Given the description of an element on the screen output the (x, y) to click on. 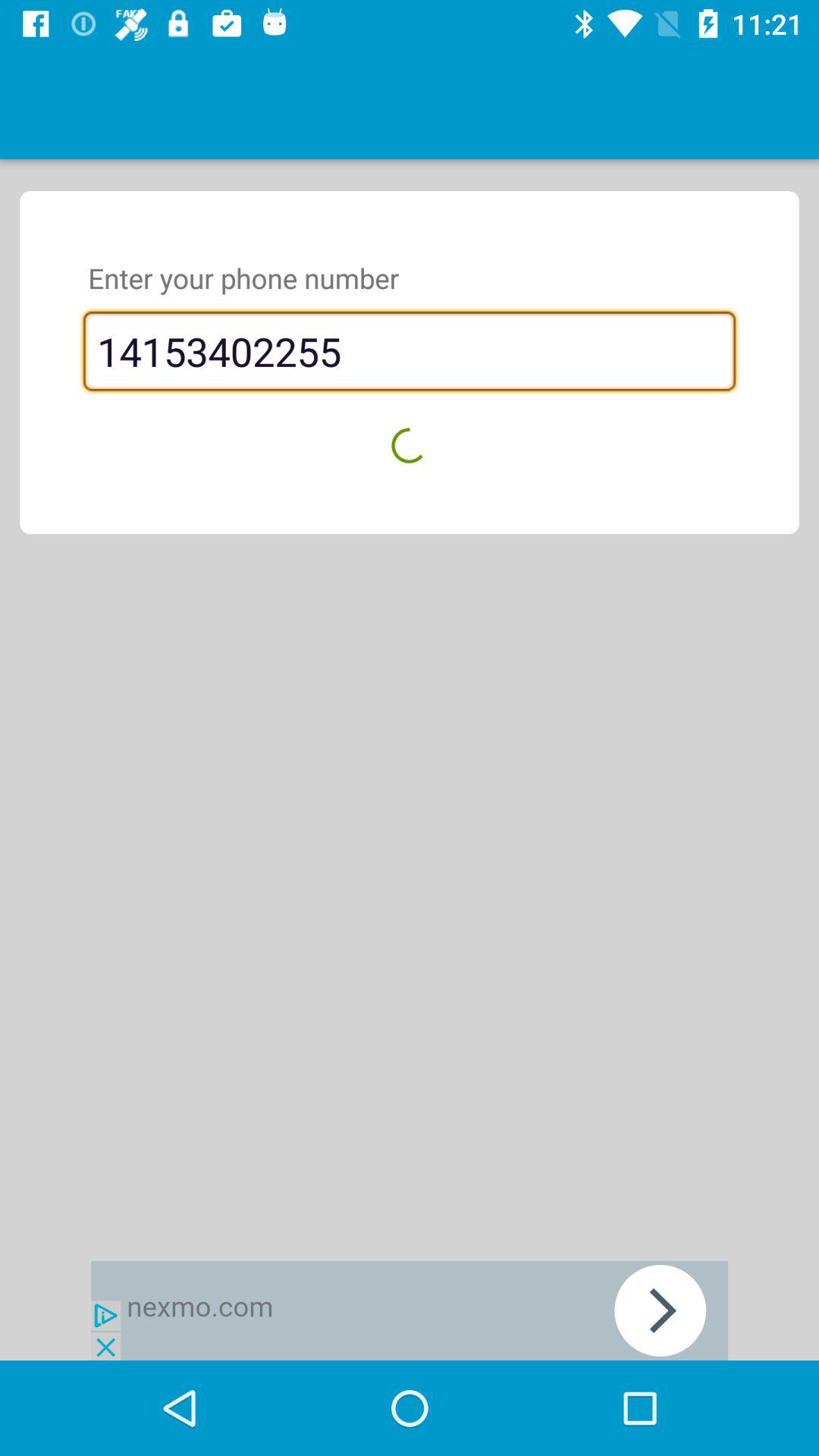
add more (409, 1310)
